Given the description of an element on the screen output the (x, y) to click on. 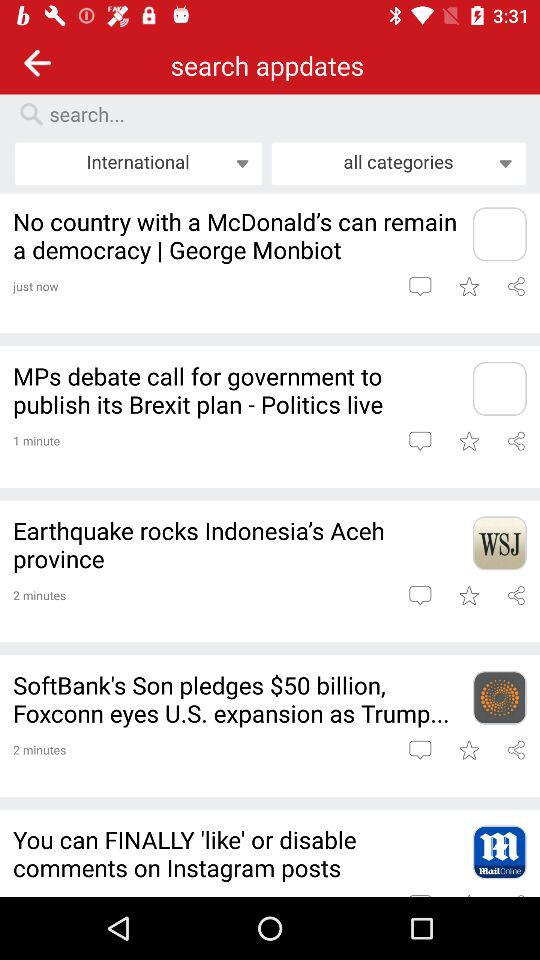
search appdates (279, 113)
